Given the description of an element on the screen output the (x, y) to click on. 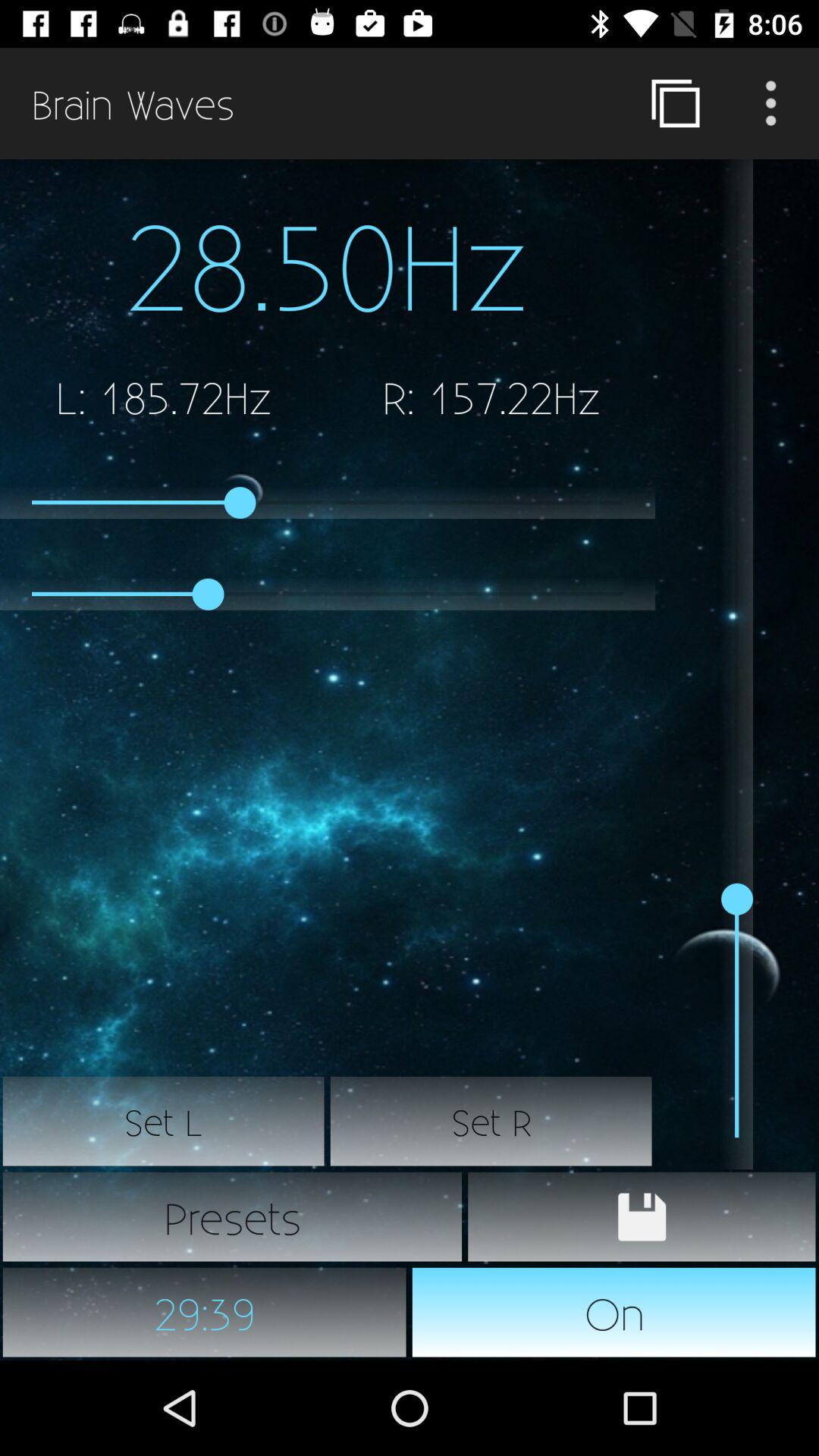
scroll until on icon (614, 1312)
